Given the description of an element on the screen output the (x, y) to click on. 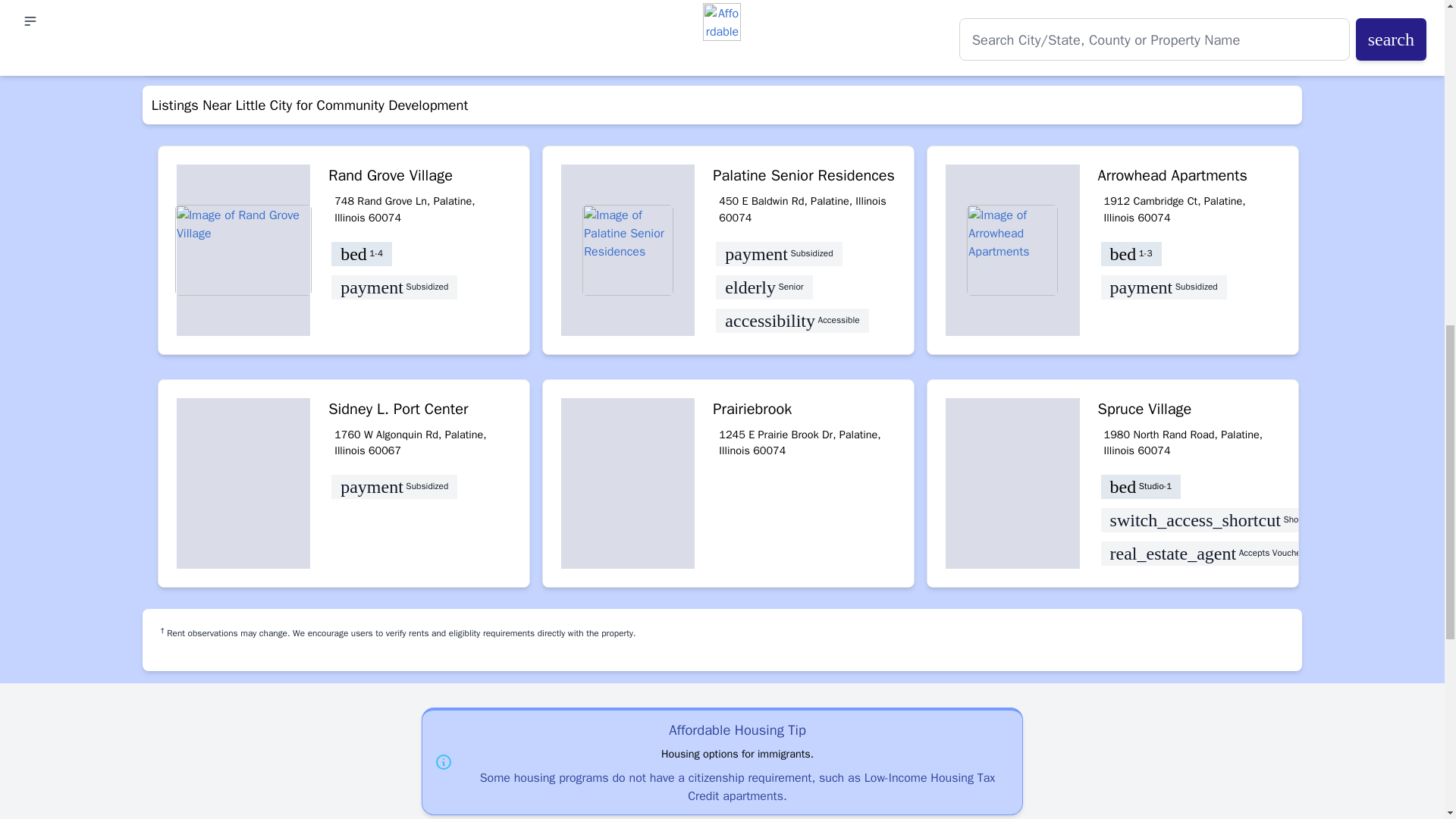
here. (805, 39)
Sidney L. Port Center (420, 409)
Spruce Village (1189, 409)
Prairiebrook (804, 409)
Palatine Senior Residences (804, 175)
Rand Grove Village (420, 175)
Arrowhead Apartments (1189, 175)
